Given the description of an element on the screen output the (x, y) to click on. 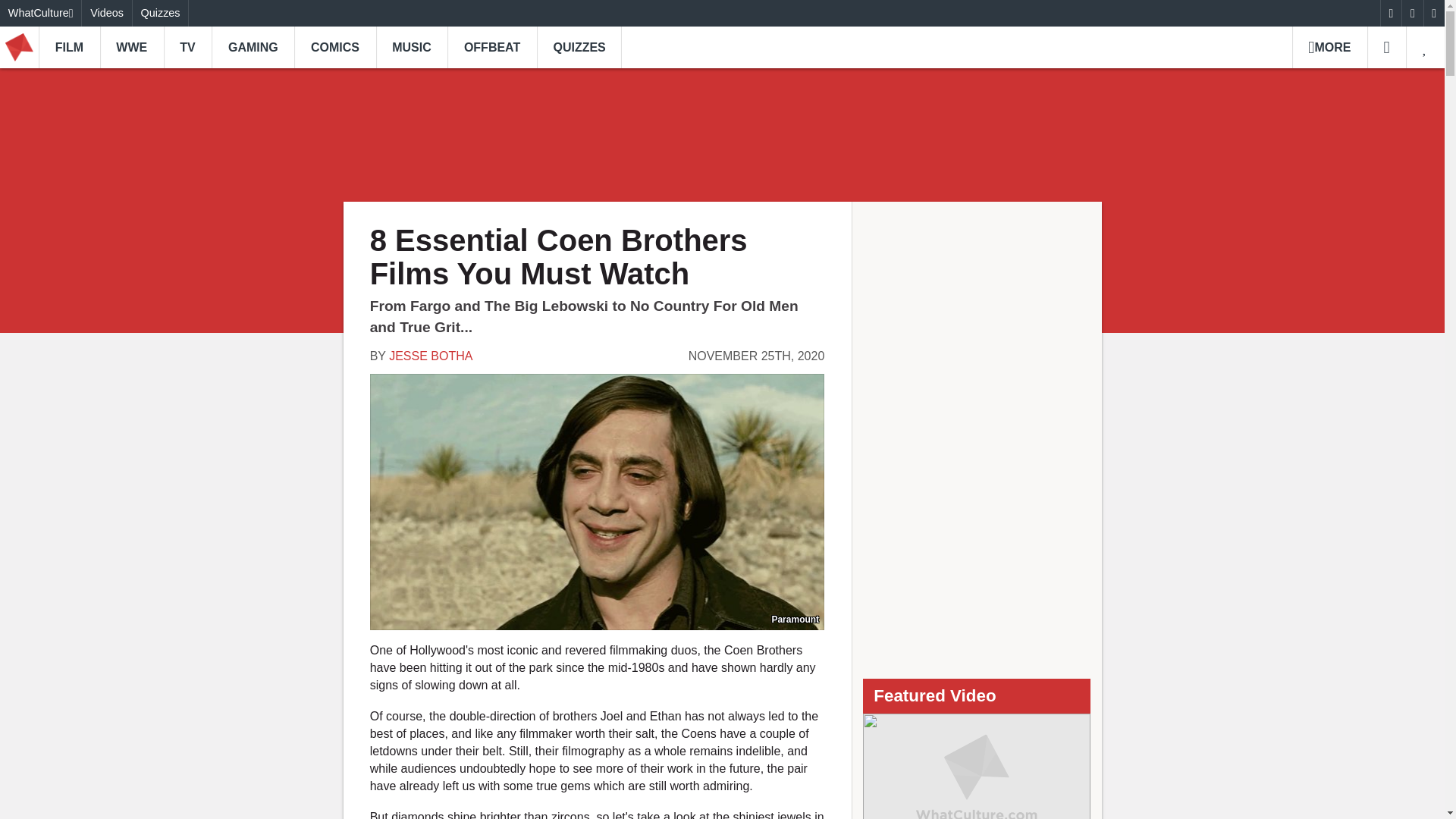
QUIZZES (580, 46)
MUSIC (411, 46)
Search (1386, 46)
FILM (69, 46)
OFFBEAT (491, 46)
Videos (106, 13)
WWE (131, 46)
COMICS (334, 46)
TV (187, 46)
SEARCH (1386, 46)
GAMING (252, 46)
MORE (1329, 46)
Quizzes (160, 13)
